Given the description of an element on the screen output the (x, y) to click on. 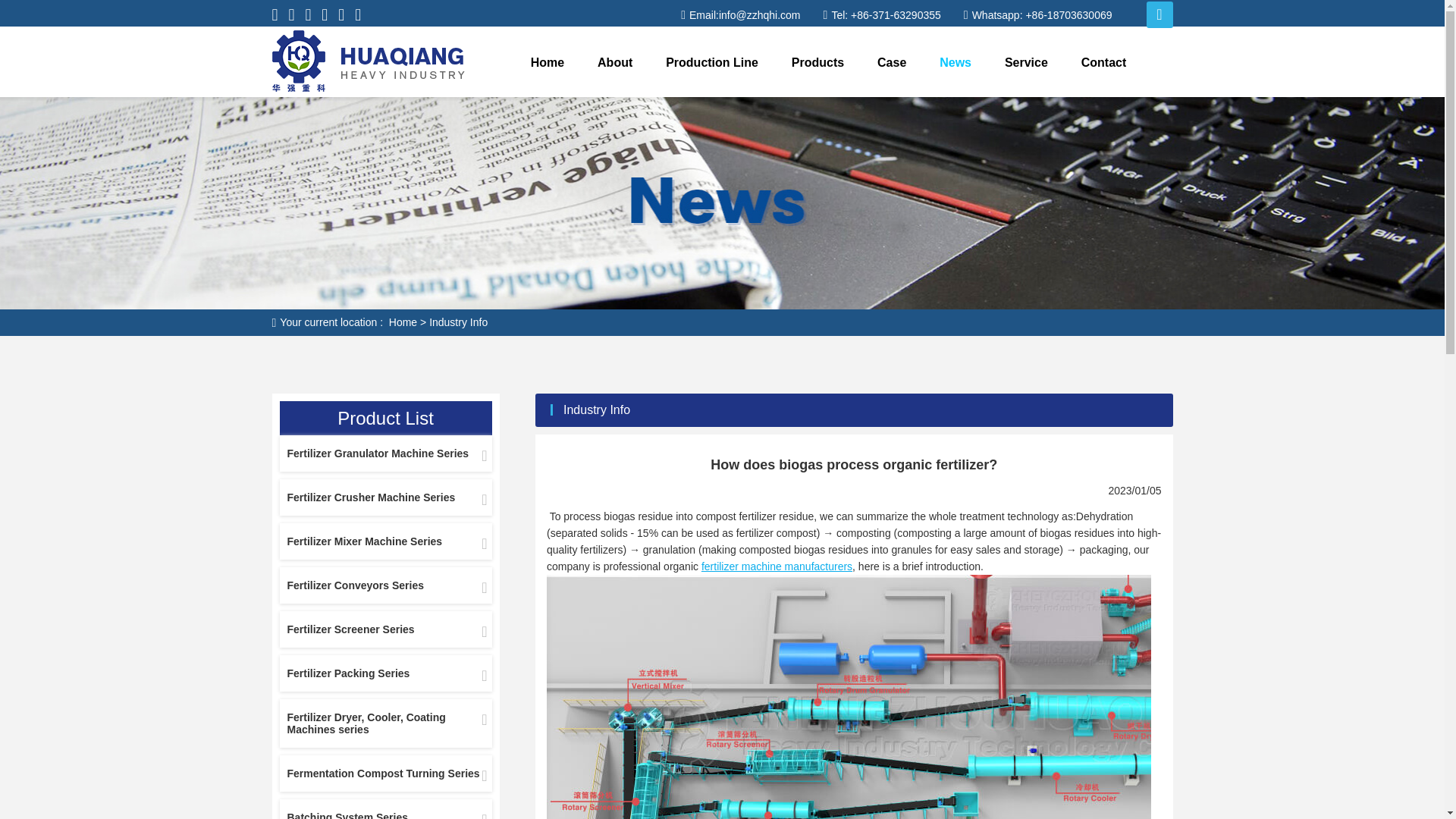
Home (402, 322)
Production Line (711, 62)
Production Line (711, 62)
Industry Info (458, 322)
